Given the description of an element on the screen output the (x, y) to click on. 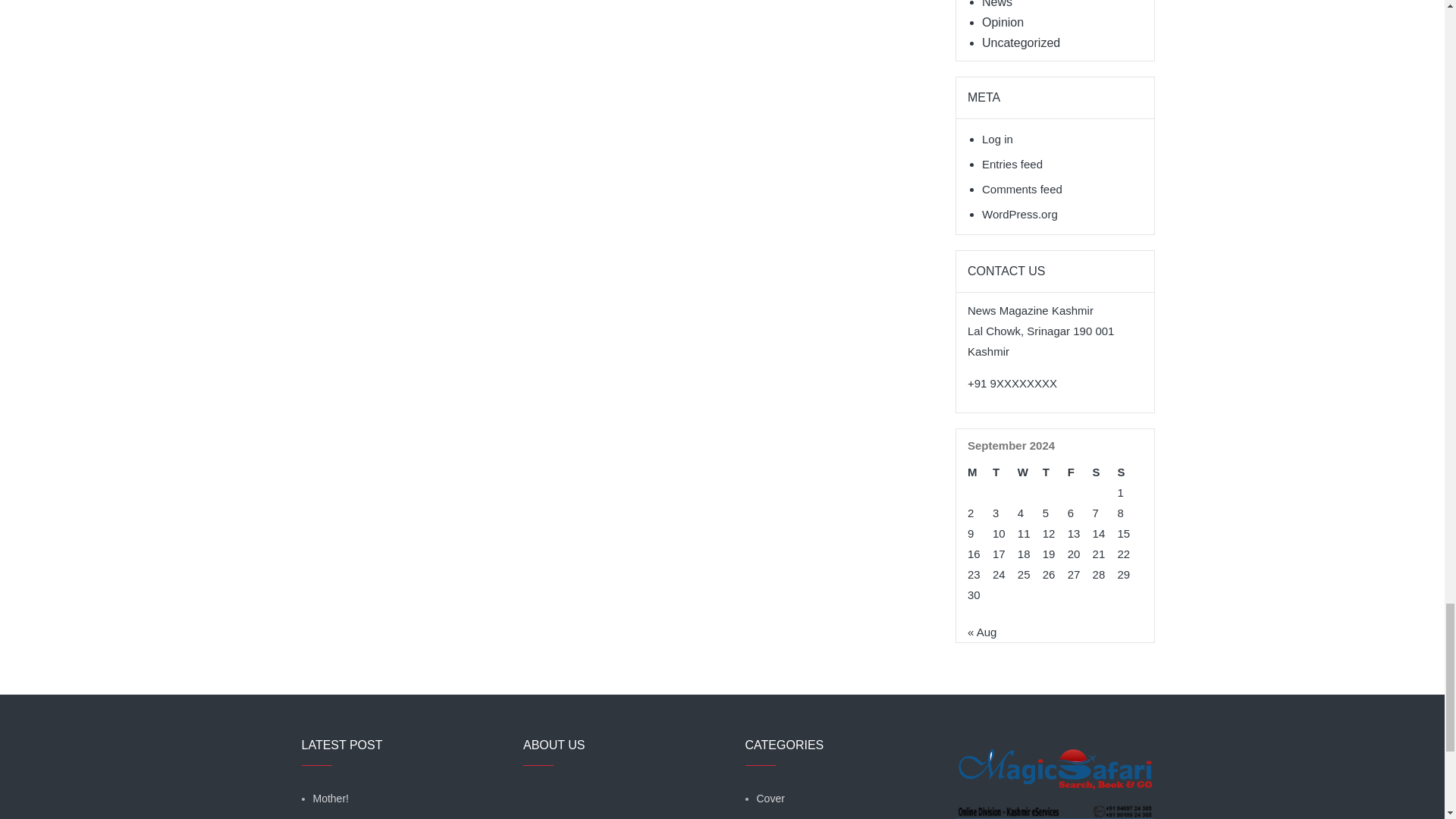
Sunday (1130, 471)
Wednesday (1029, 471)
Tuesday (1004, 471)
262x220 Ads (1054, 759)
Monday (980, 471)
Thursday (1054, 471)
Saturday (1105, 471)
Friday (1080, 471)
